Given the description of an element on the screen output the (x, y) to click on. 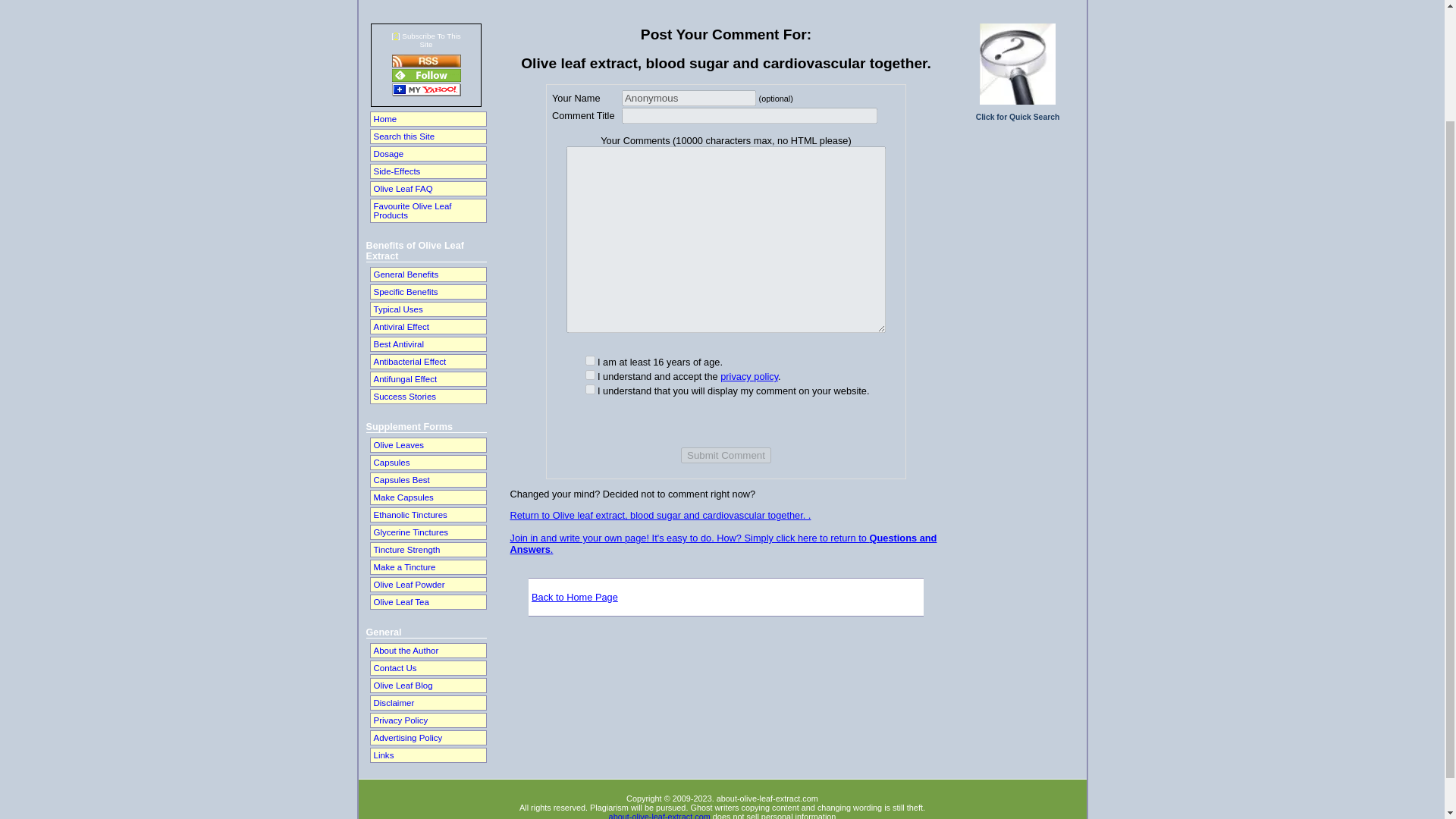
1 (590, 375)
Favourite Olive Leaf Products (426, 210)
Anonymous (688, 98)
Glycerine Tinctures (426, 531)
Make a Tincture (426, 567)
Best Antiviral (426, 344)
Side-Effects (426, 171)
Ethanolic Tinctures (426, 514)
Antibacterial Effect (426, 361)
Privacy Policy (426, 720)
1 (590, 360)
Olive Leaf Blog (426, 685)
Capsules Best (426, 479)
